Given the description of an element on the screen output the (x, y) to click on. 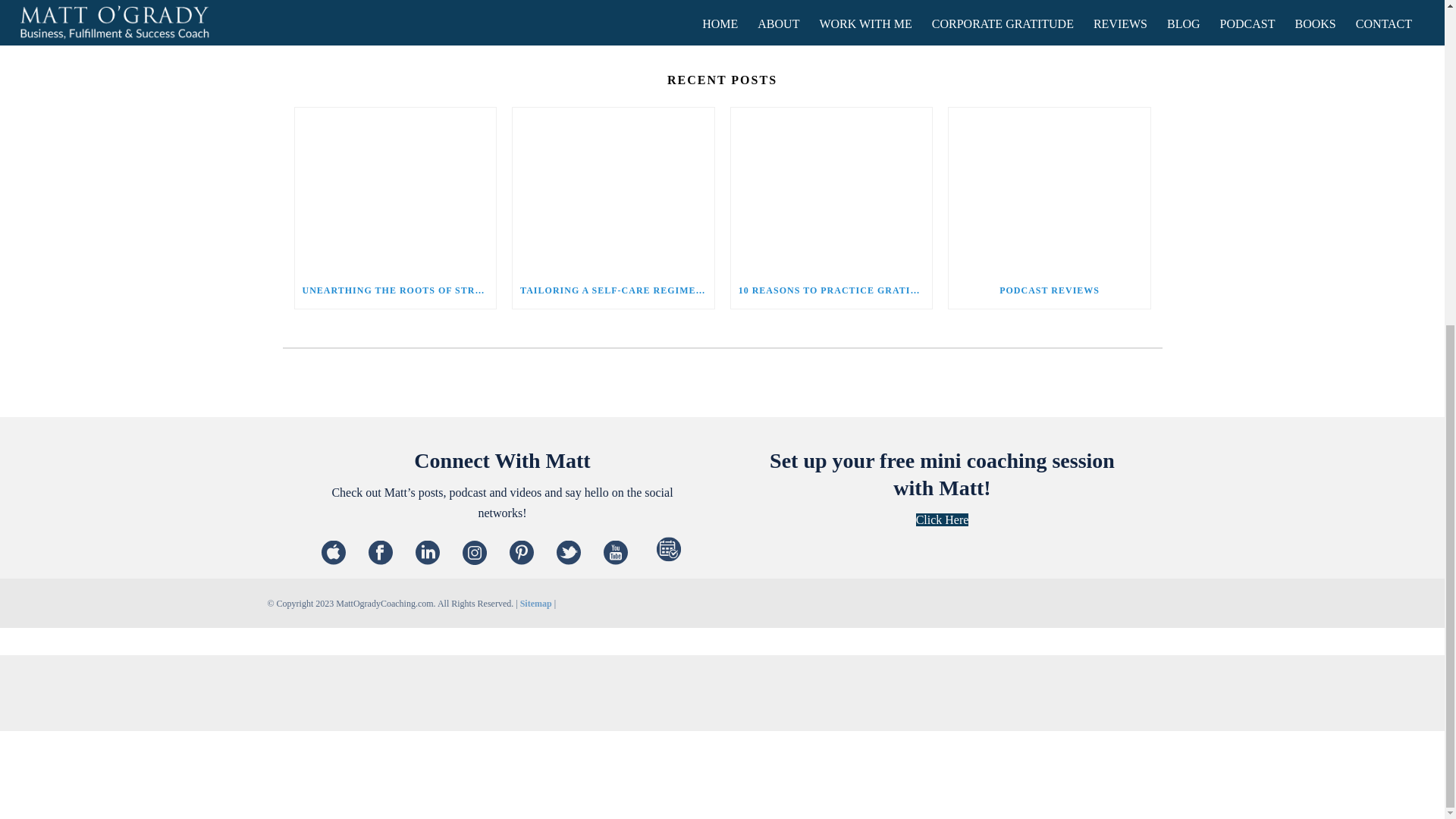
Follow Us on pinterest (521, 553)
Podcast Reviews (1049, 189)
Follow Us on instagram (474, 553)
Tailoring a Self-Care Regimen for Introverted Individuals (613, 189)
Follow Us on linkedin (426, 553)
10 Reasons to Practice Gratitude Every Single Day! (831, 189)
Follow Us on facebook (380, 553)
Follow Us on apple (333, 553)
Follow Us on twitter (568, 553)
